Given the description of an element on the screen output the (x, y) to click on. 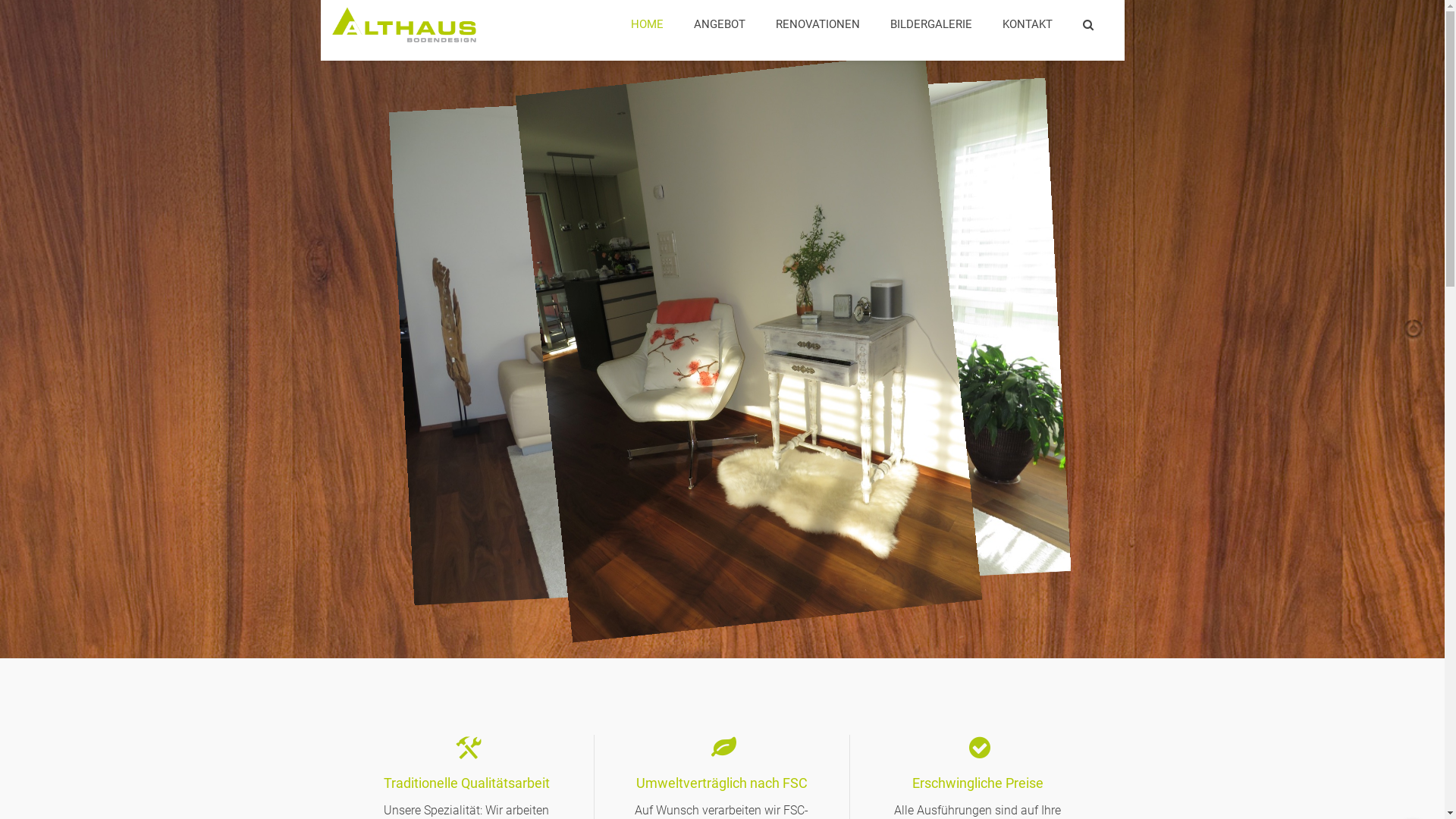
BILDERGALERIE Element type: text (931, 24)
ANGEBOT Element type: text (718, 24)
RENOVATIONEN Element type: text (816, 24)
HOME Element type: text (646, 24)
KONTAKT Element type: text (1027, 24)
